Given the description of an element on the screen output the (x, y) to click on. 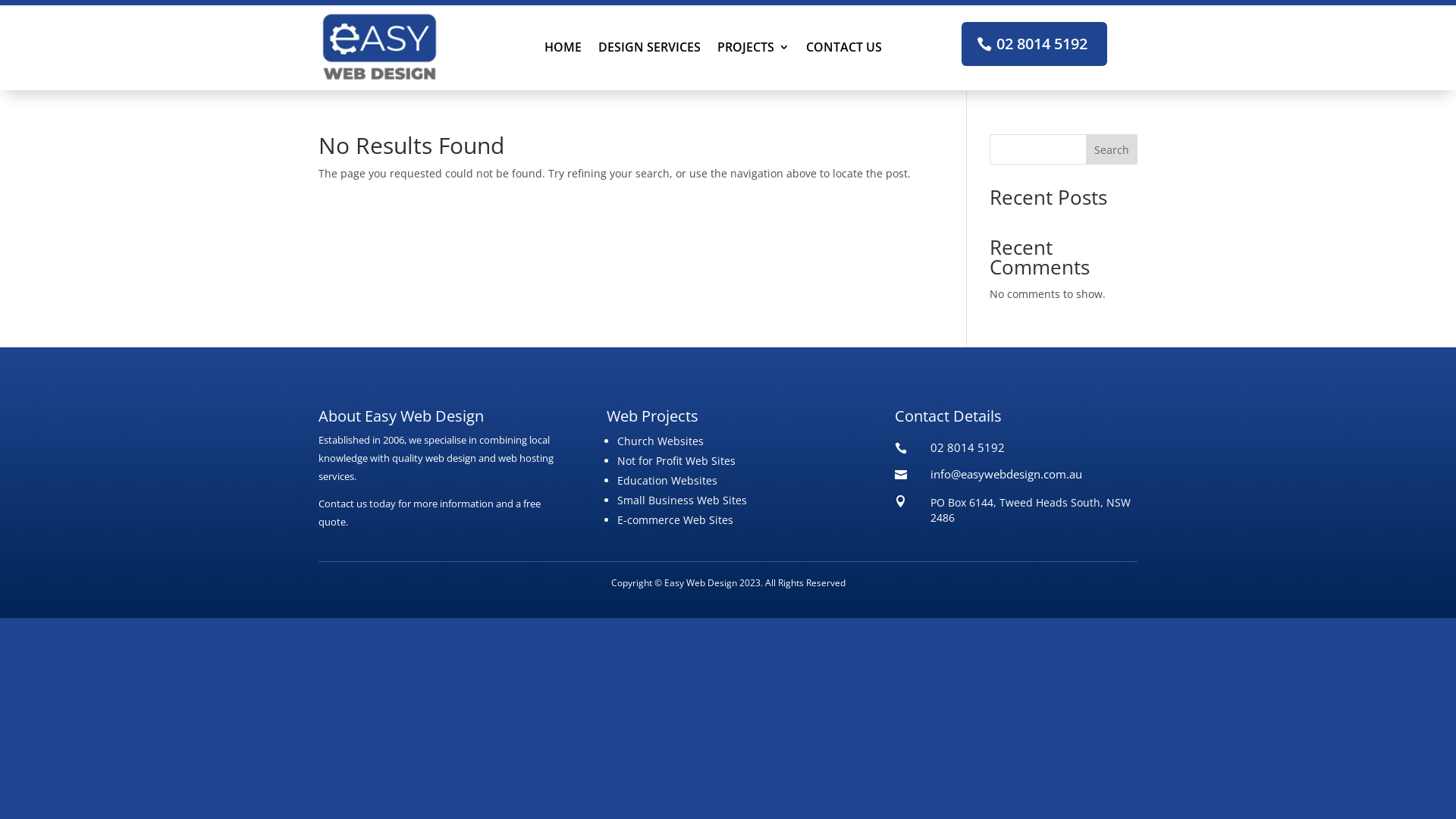
info@easywebdesign.com.au Element type: text (1006, 473)
HOME Element type: text (562, 49)
Small Business Web Sites Element type: text (681, 499)
Church Websites Element type: text (660, 440)
EWD-logo-small Element type: hover (378, 46)
02 8014 5192 Element type: text (967, 447)
Search Element type: text (1111, 149)
Not for Profit Web Sites Element type: text (676, 460)
Education Websites Element type: text (667, 480)
E-commerce Web Sites Element type: text (675, 519)
PROJECTS Element type: text (753, 49)
DESIGN SERVICES Element type: text (648, 49)
02 8014 5192 Element type: text (1034, 43)
CONTACT US Element type: text (843, 49)
